Given the description of an element on the screen output the (x, y) to click on. 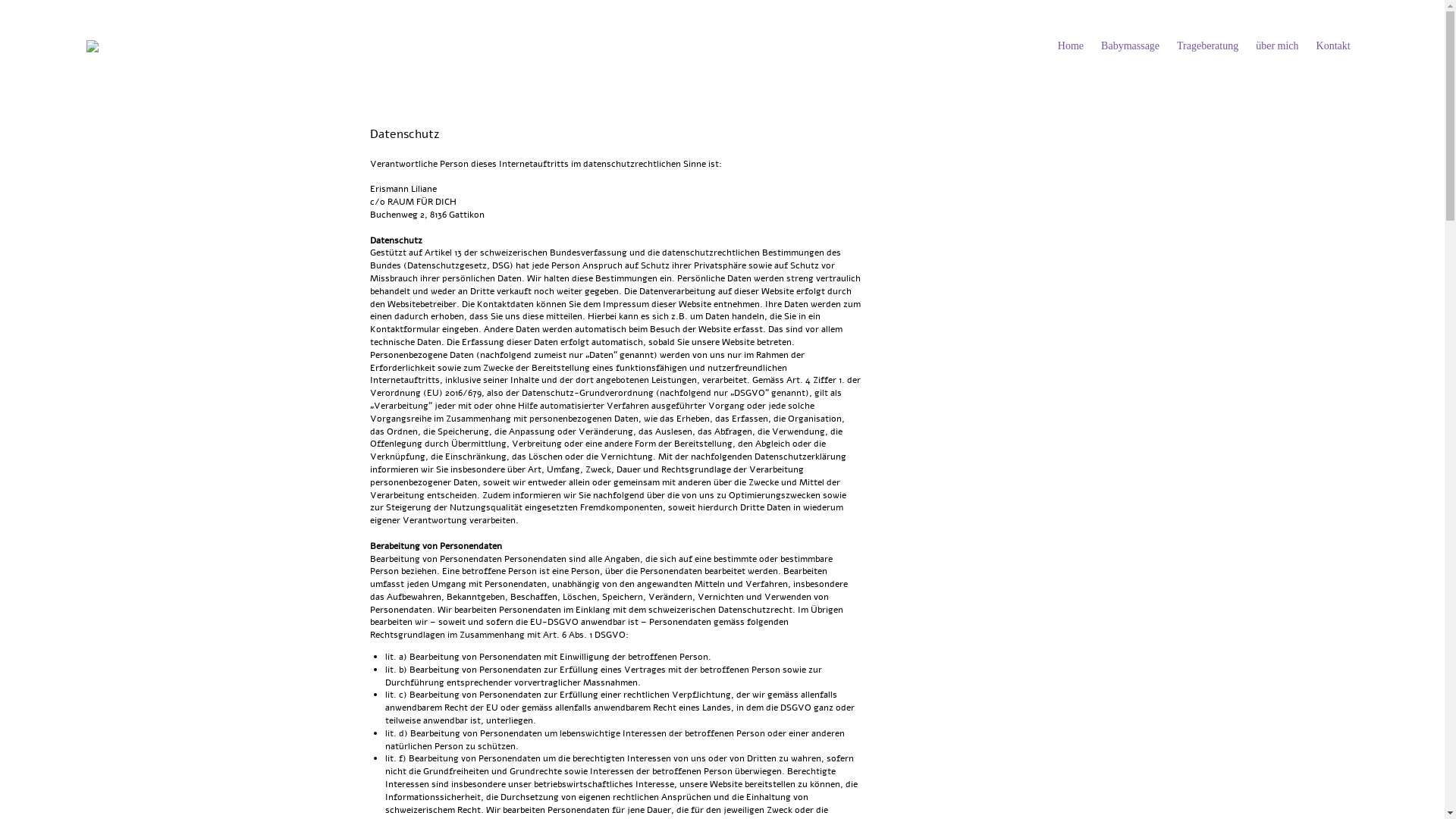
Kontakt Element type: text (1333, 45)
Trageberatung Element type: text (1207, 45)
Home Element type: text (1070, 45)
Babymassage Element type: text (1130, 45)
